Given the description of an element on the screen output the (x, y) to click on. 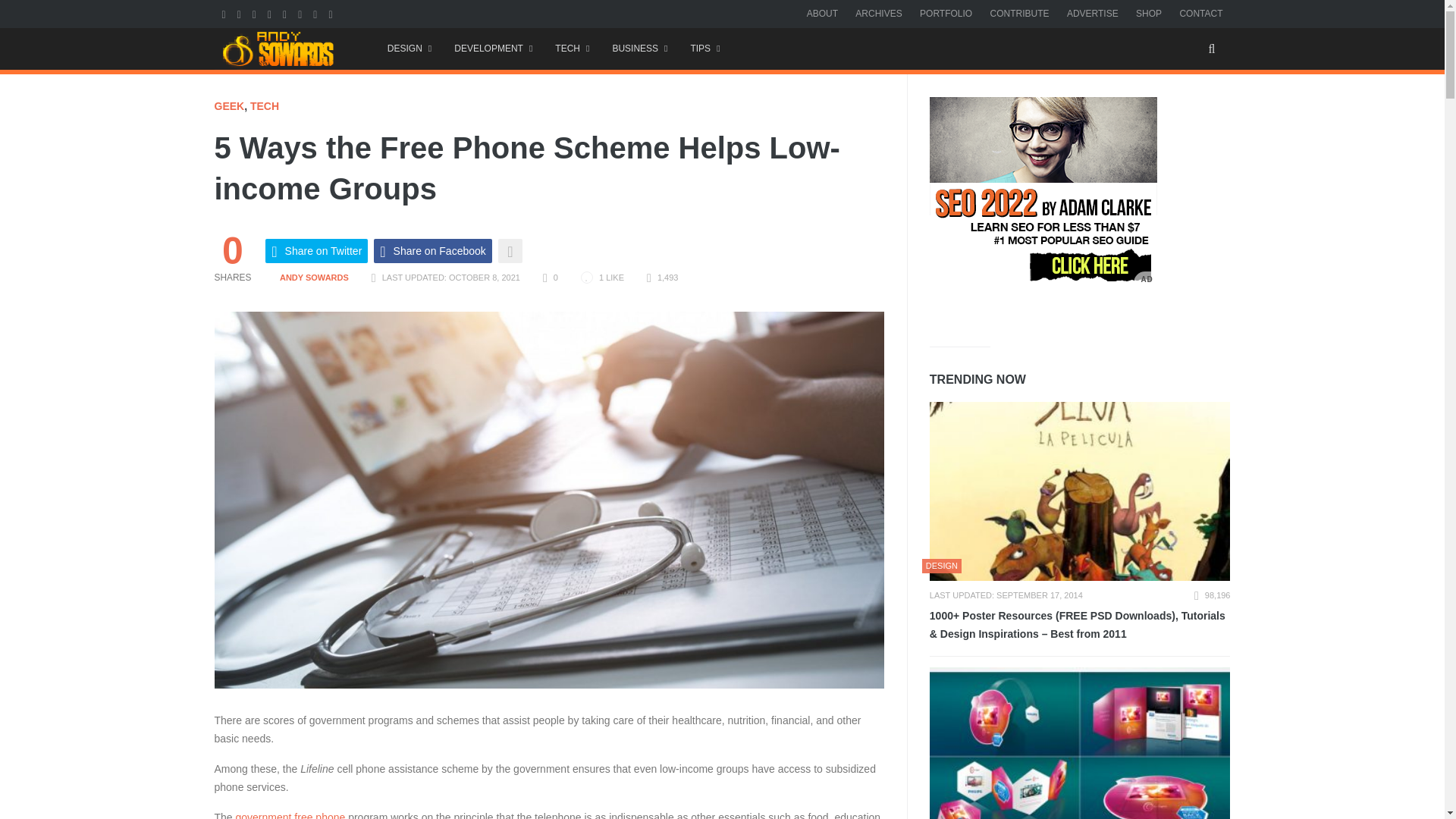
ADVERTISE (1092, 13)
ARCHIVES (878, 13)
CONTRIBUTE (1019, 13)
DEVELOPMENT (493, 48)
PORTFOLIO (946, 13)
BUSINESS (638, 48)
DESIGN (408, 48)
CONTACT (1201, 13)
SHOP (1148, 13)
Design (408, 48)
